Given the description of an element on the screen output the (x, y) to click on. 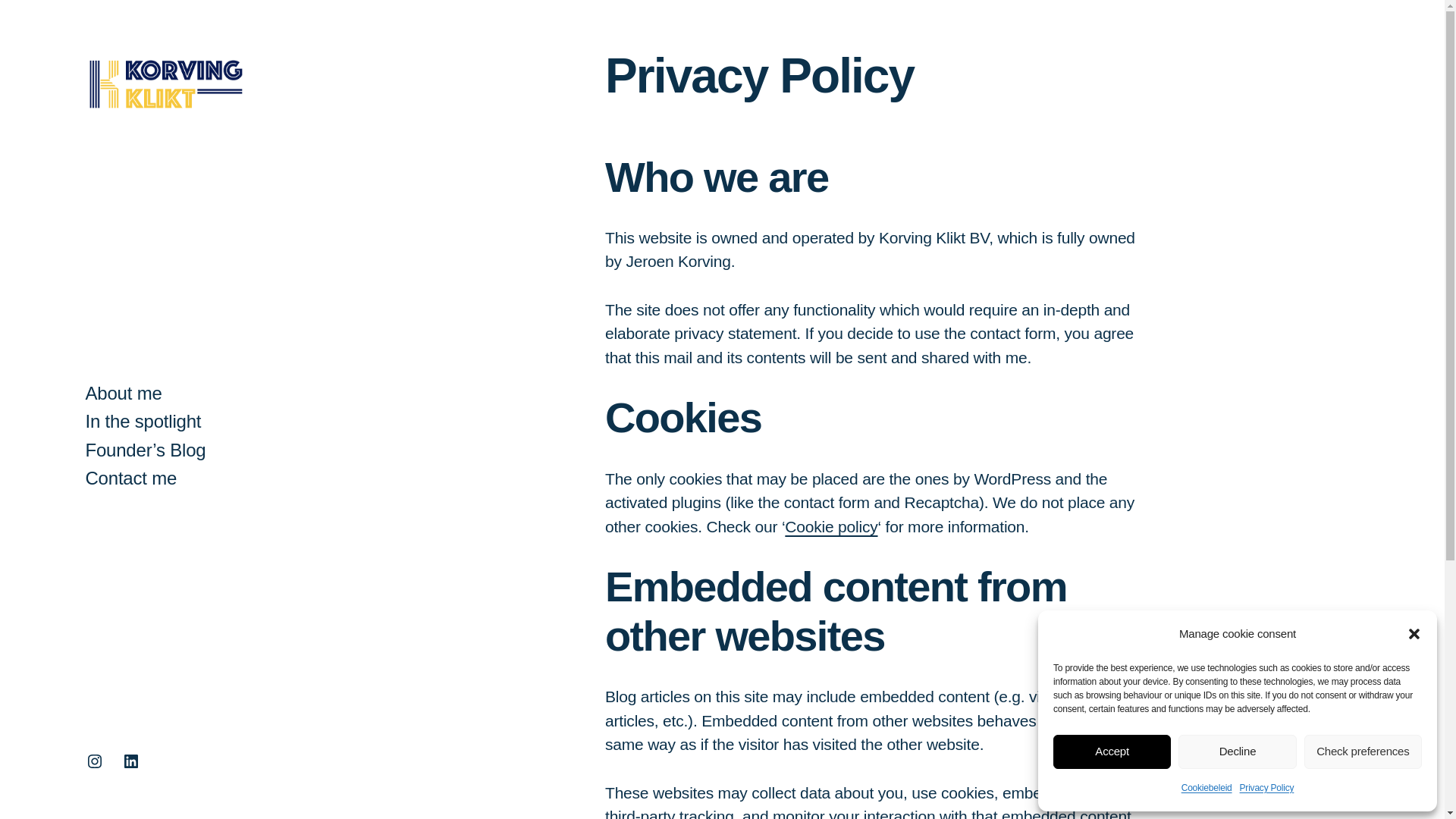
Instagram (93, 761)
About me (122, 393)
Accept (1111, 750)
Cookie policy (830, 526)
Privacy Policy (1267, 788)
In the spotlight (142, 421)
Decline (1236, 750)
LinkedIn (129, 761)
Check preferences (1363, 750)
Contact me (130, 478)
Cookiebeleid (1205, 788)
